Given the description of an element on the screen output the (x, y) to click on. 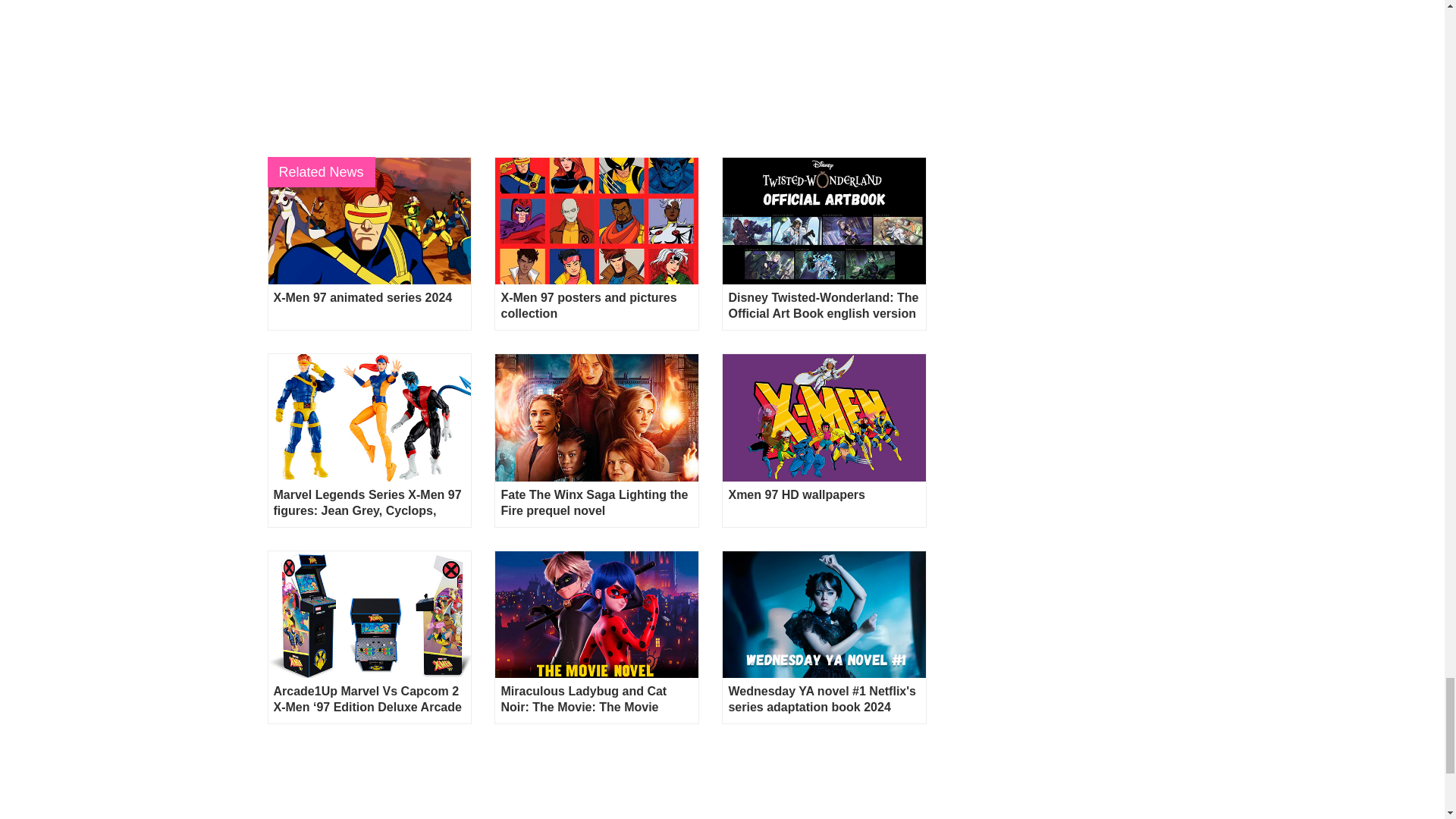
X-Men 97 animated series 2024 (369, 305)
Xmen 97 HD wallpapers (824, 502)
X-Men 97 animated series 2024 (369, 221)
Fate The Winx Saga Lighting the Fire prequel novel (596, 416)
X-Men 97 posters and pictures collection (596, 305)
X-Men 97 animated series 2024 (369, 305)
Fate The Winx Saga Lighting the Fire prequel novel (596, 502)
Xmen 97 HD wallpapers (824, 416)
X-Men 97 posters and pictures collection (596, 221)
